Given the description of an element on the screen output the (x, y) to click on. 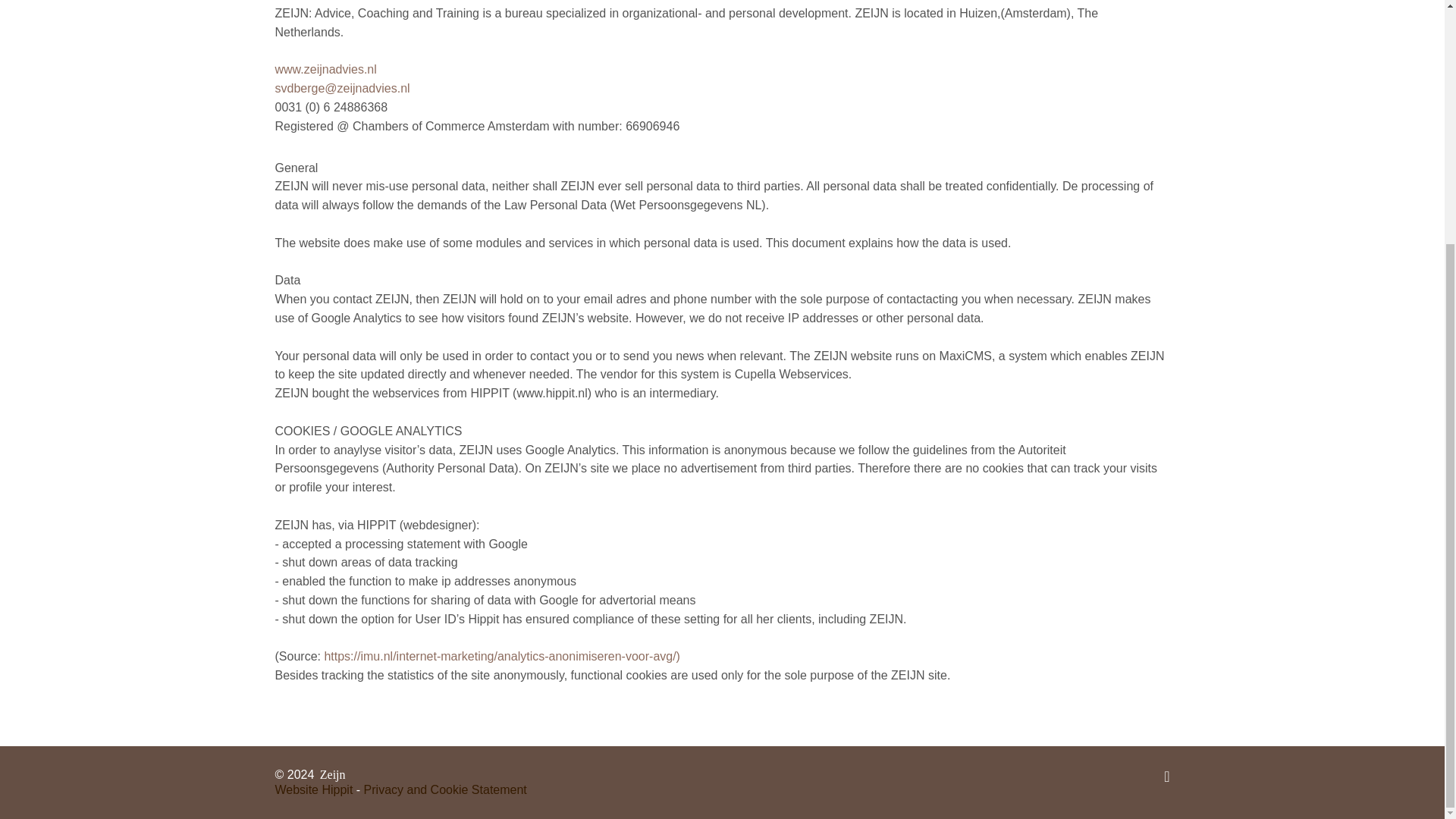
www.zeijnadvies.nl (325, 69)
Website Hippit (313, 788)
Privacy and Cookie Statement (445, 788)
